Given the description of an element on the screen output the (x, y) to click on. 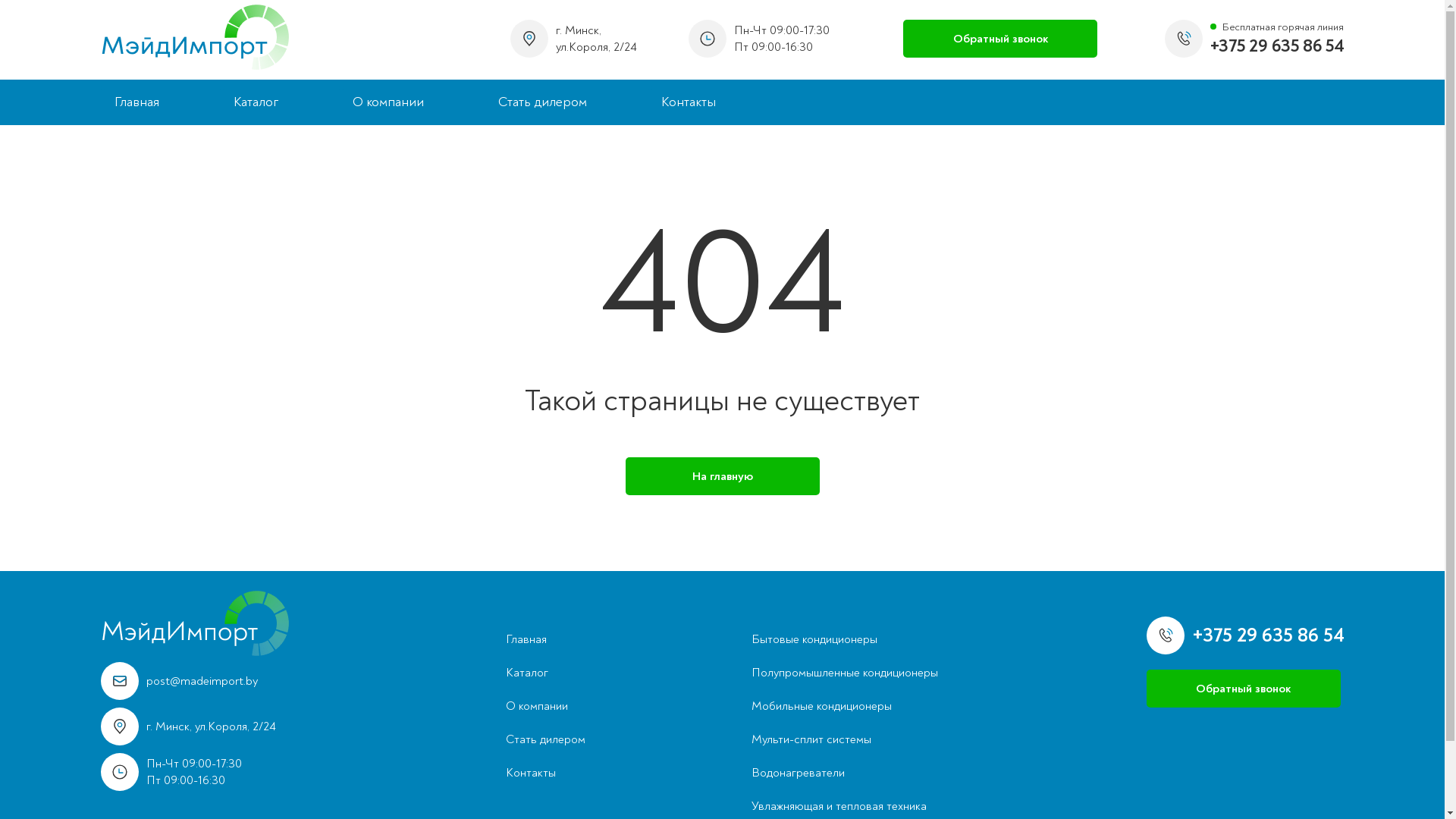
post@madeimport.by Element type: text (198, 680)
+375 29 635 86 54 Element type: text (1268, 635)
+375 29 635 86 54 Element type: text (1277, 45)
